Given the description of an element on the screen output the (x, y) to click on. 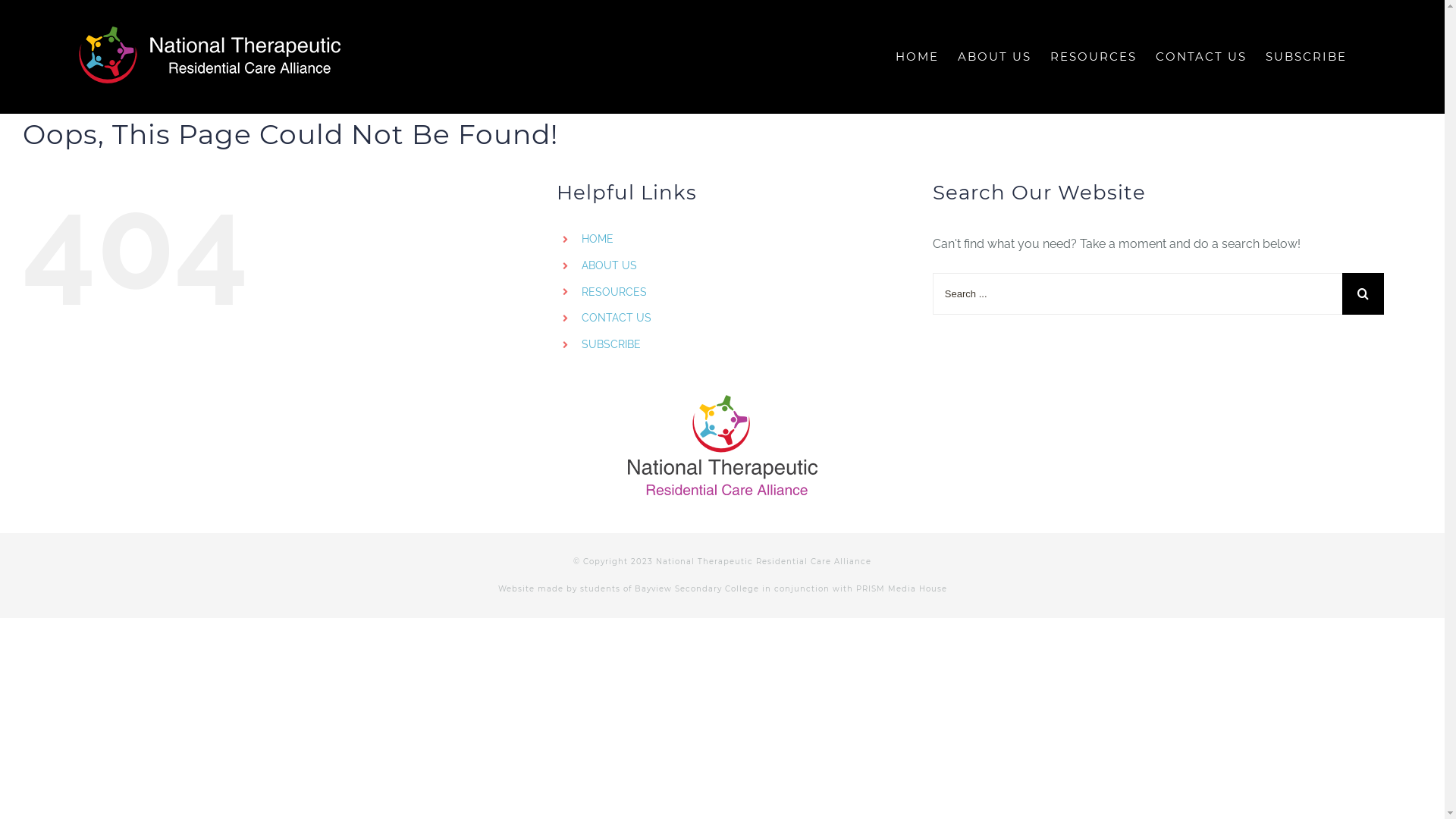
HOME Element type: text (597, 238)
SUBSCRIBE Element type: text (1305, 56)
CONTACT US Element type: text (1200, 56)
ABOUT US Element type: text (994, 56)
PRISM Media House Element type: text (900, 588)
HOME Element type: text (916, 56)
RESOURCES Element type: text (1093, 56)
RESOURCES Element type: text (613, 291)
ABOUT US Element type: text (609, 265)
SUBSCRIBE Element type: text (610, 344)
CONTACT US Element type: text (616, 317)
